Given the description of an element on the screen output the (x, y) to click on. 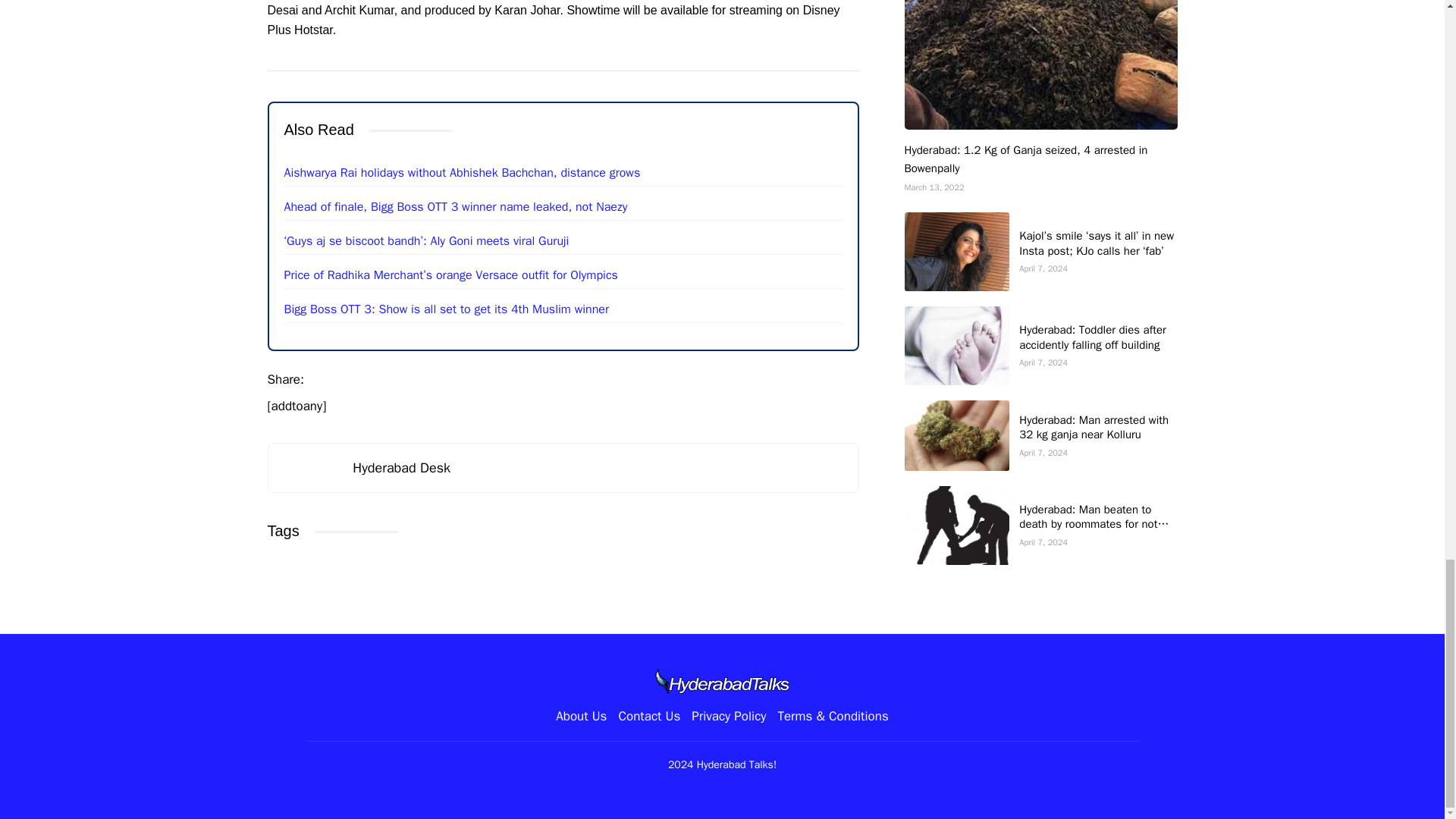
Contact Us (648, 716)
Privacy Policy (728, 716)
Hyderabad Desk (400, 467)
About Us (581, 716)
cropped-hyd-talks-white-h65.png (721, 681)
